Given the description of an element on the screen output the (x, y) to click on. 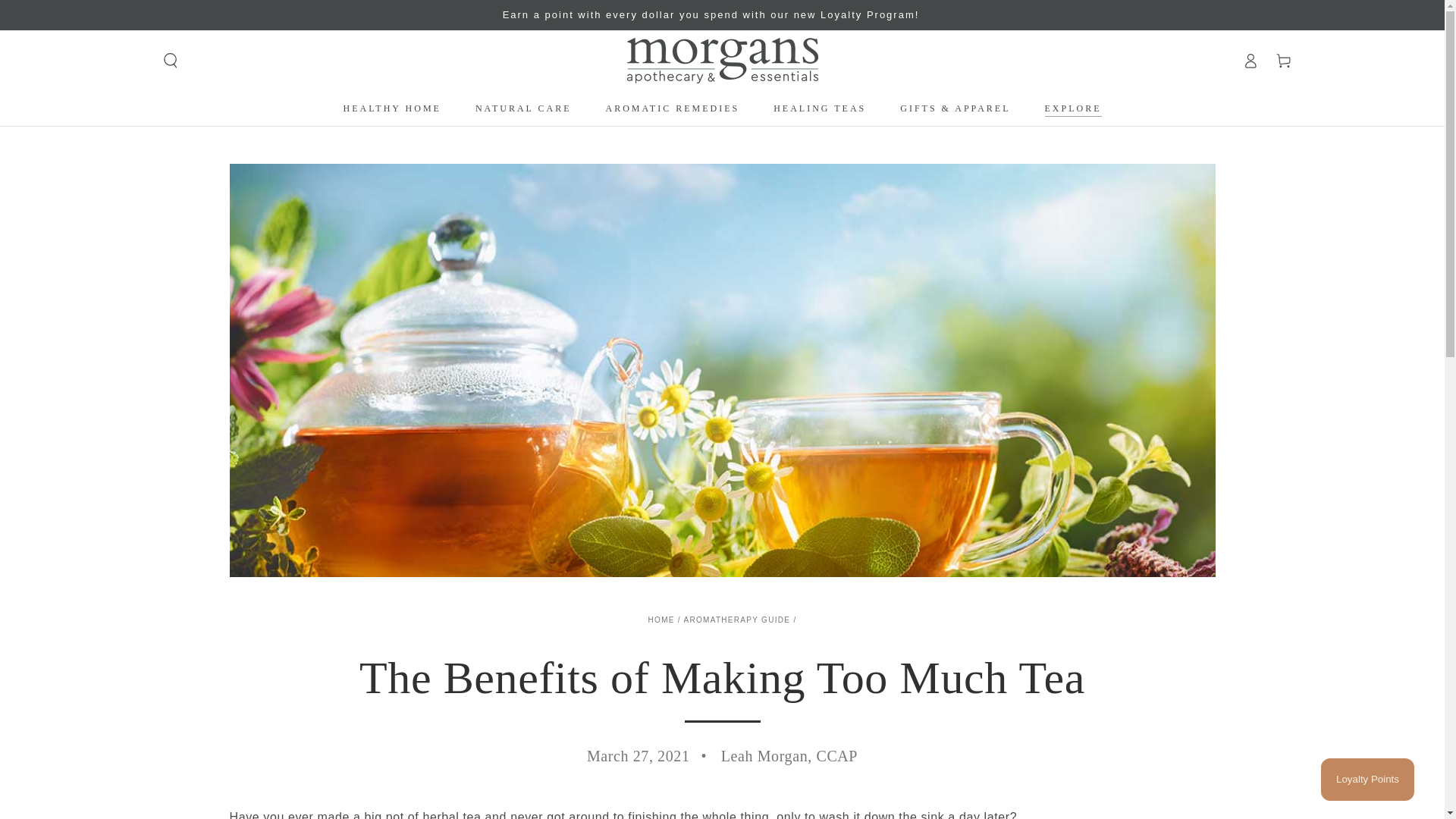
Back to the frontpage (661, 619)
SKIP TO CONTENT (67, 14)
